Given the description of an element on the screen output the (x, y) to click on. 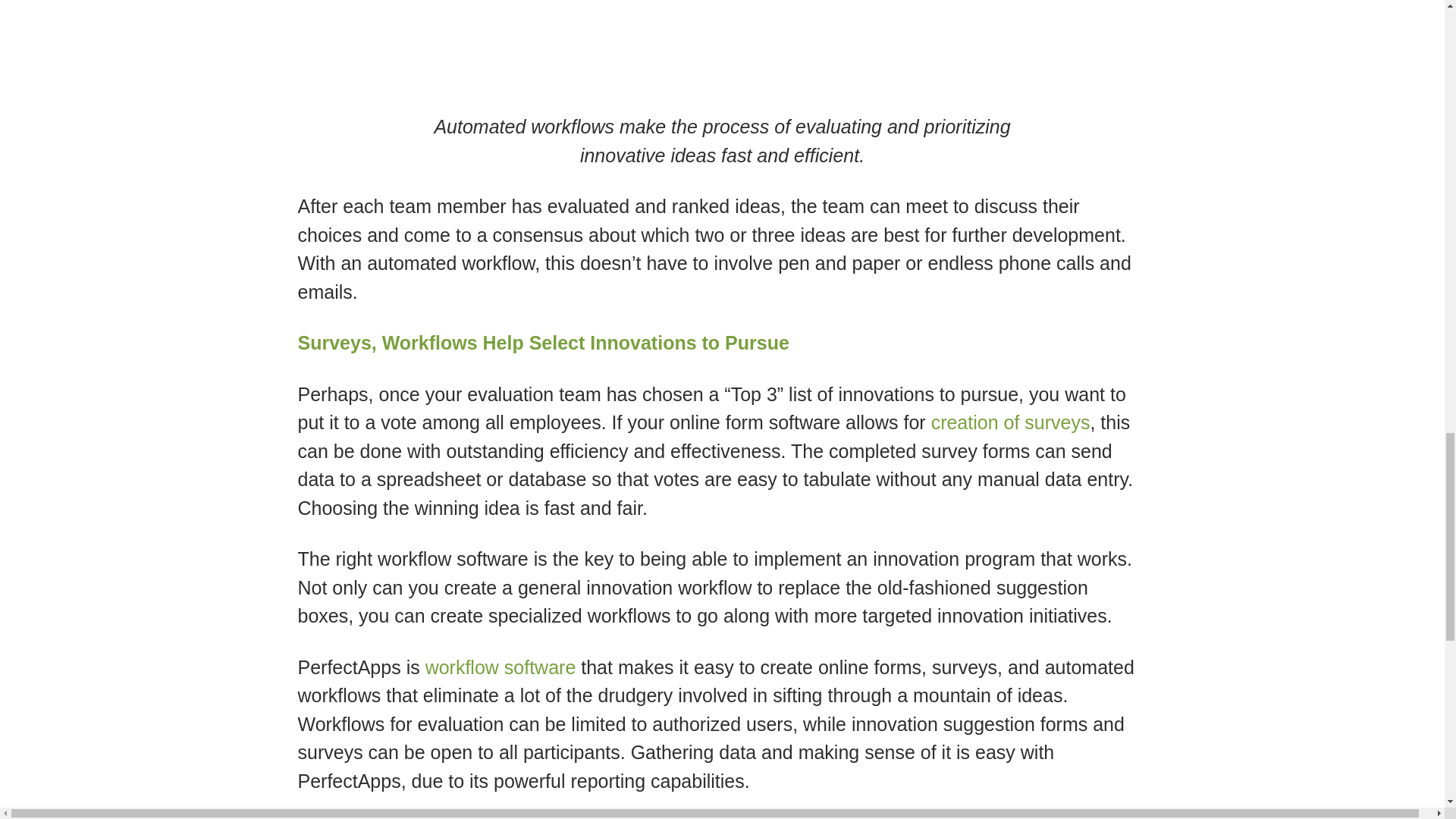
creation of surveys (1010, 422)
workflow software (500, 667)
